Given the description of an element on the screen output the (x, y) to click on. 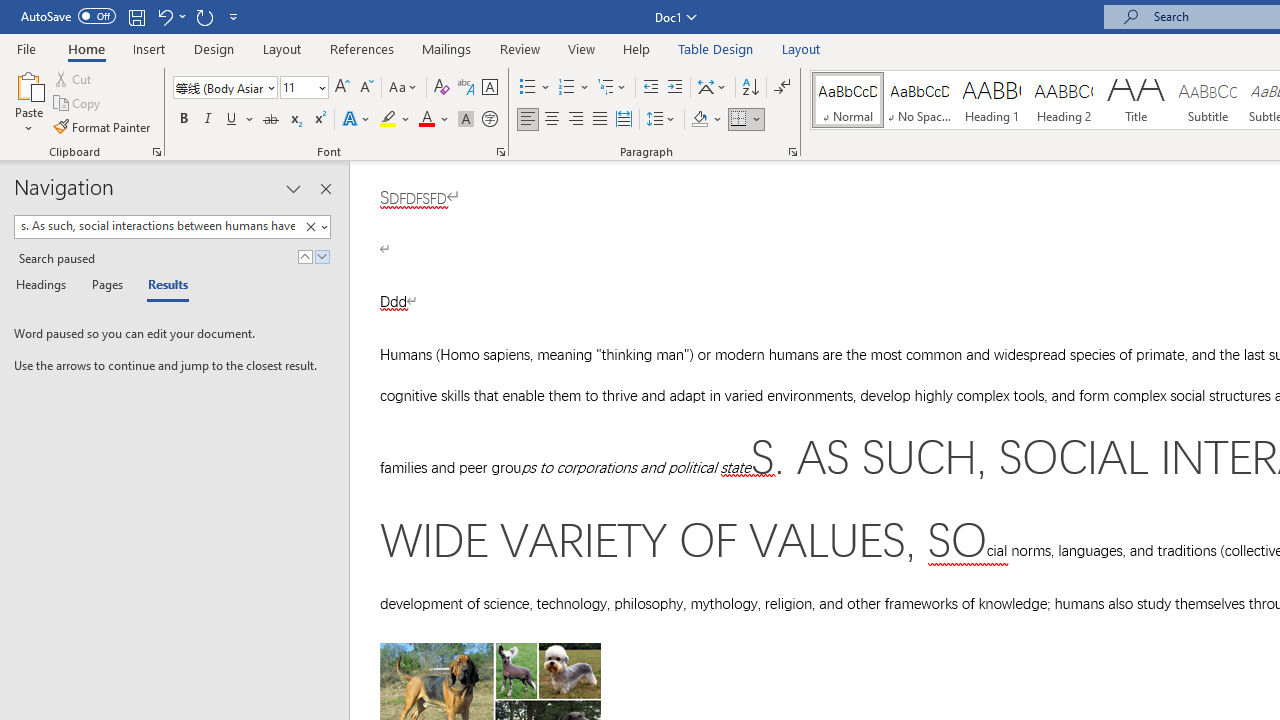
Subtitle (1208, 100)
Heading 2 (1063, 100)
